Given the description of an element on the screen output the (x, y) to click on. 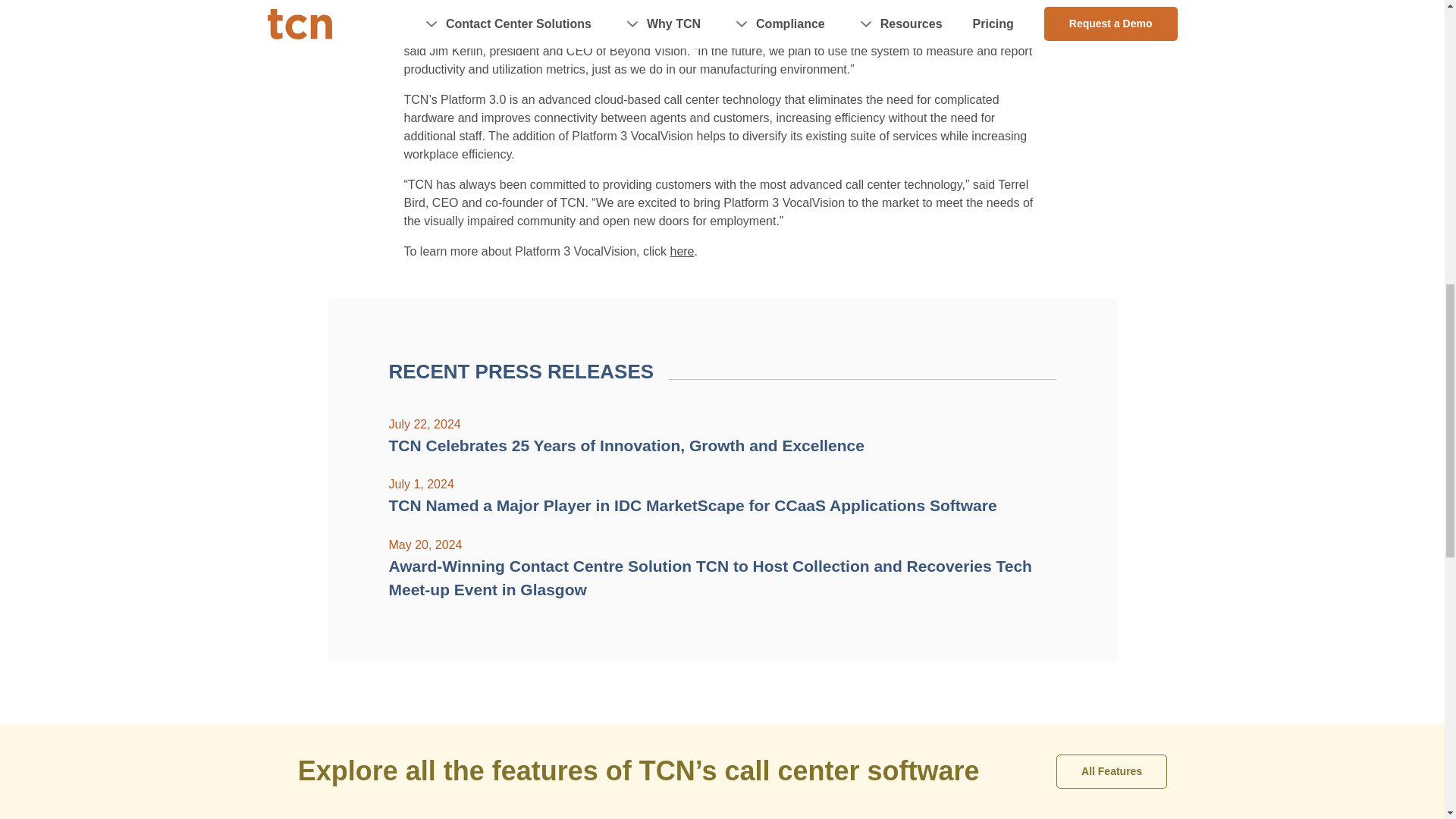
VocalVision (681, 250)
